Given the description of an element on the screen output the (x, y) to click on. 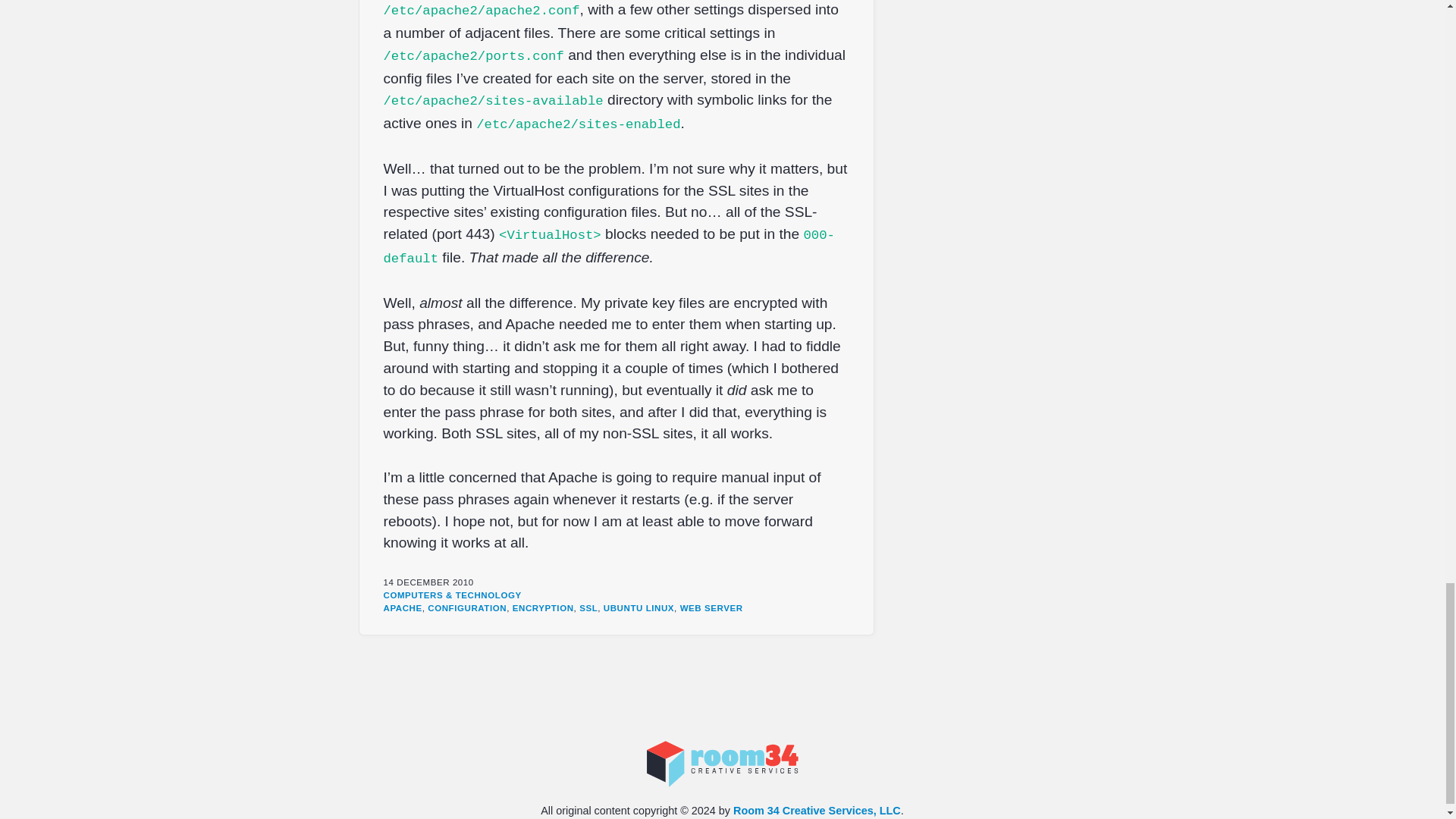
CONFIGURATION (467, 607)
APACHE (403, 607)
UBUNTU LINUX (639, 607)
ENCRYPTION (542, 607)
SSL (587, 607)
WEB SERVER (710, 607)
